Given the description of an element on the screen output the (x, y) to click on. 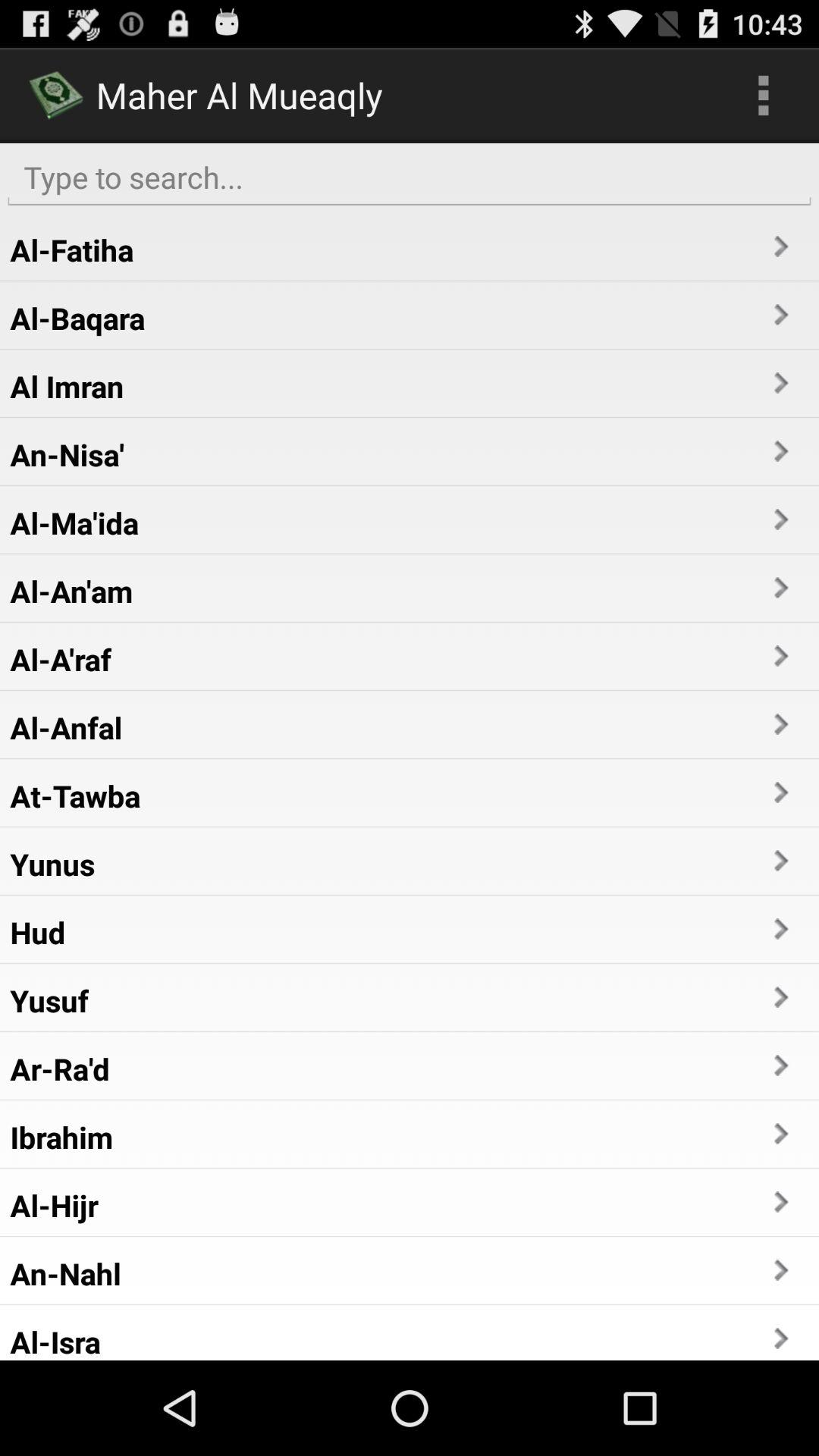
open the app to the right of an-nahl app (779, 1269)
